Given the description of an element on the screen output the (x, y) to click on. 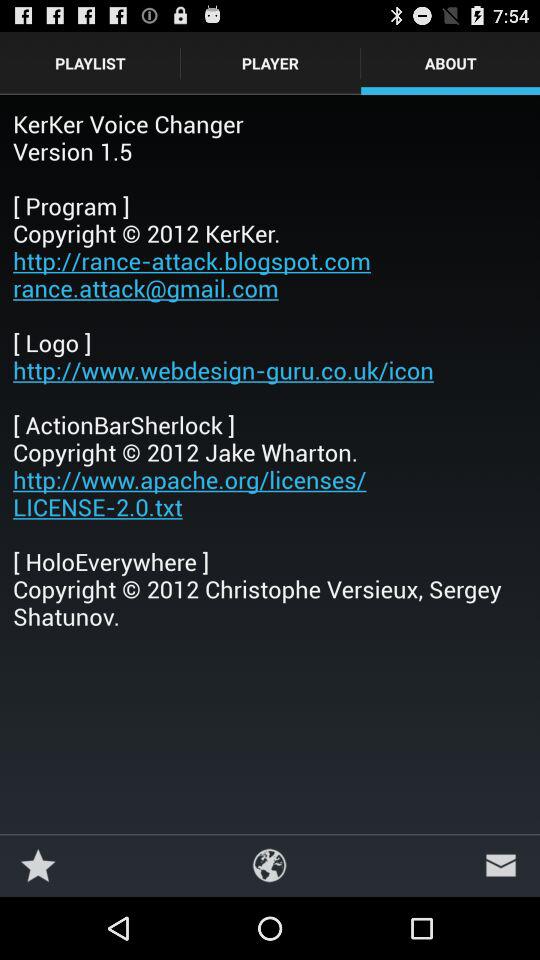
turn off icon below kerker voice changer icon (500, 864)
